Given the description of an element on the screen output the (x, y) to click on. 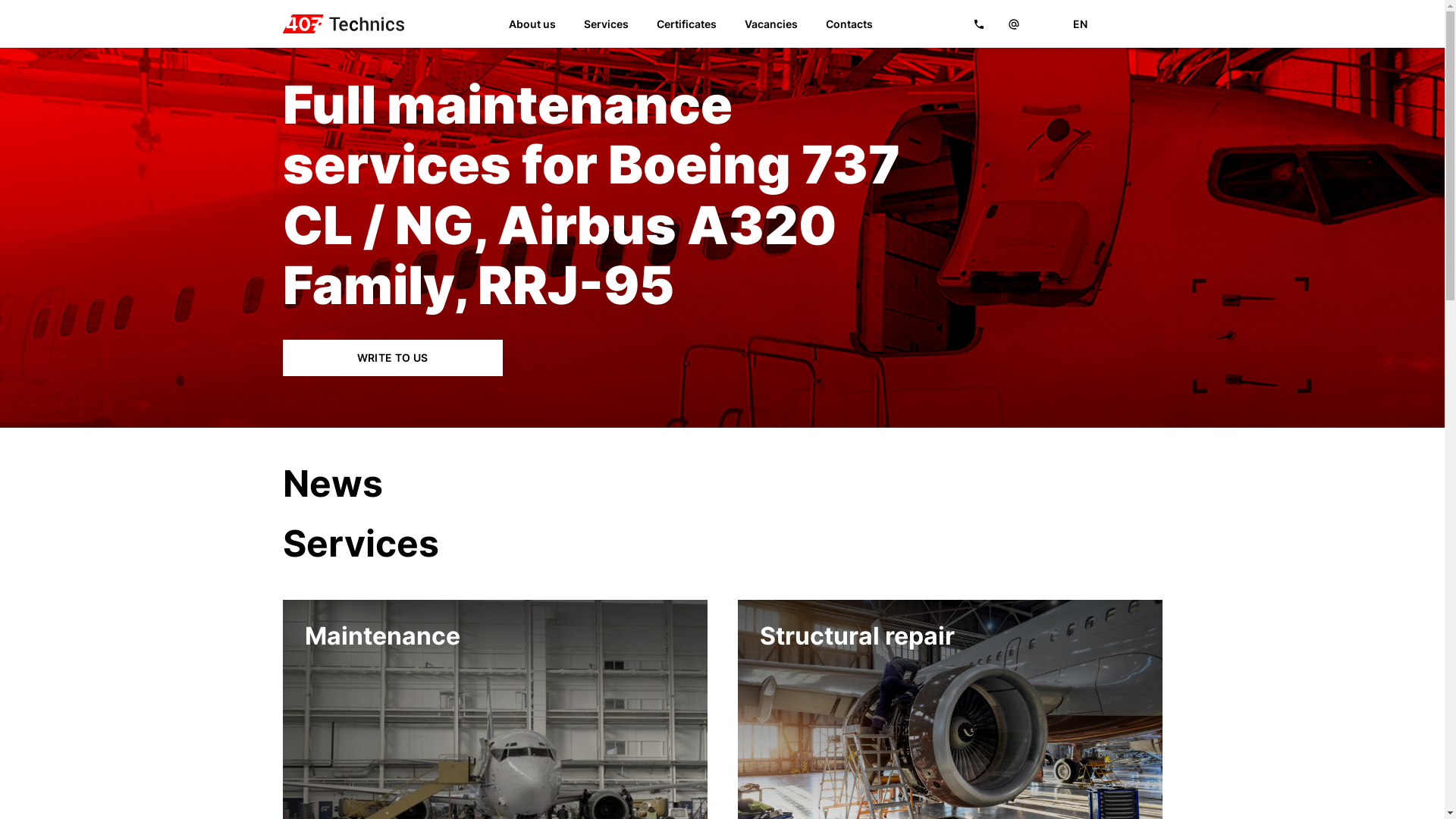
Contacts Element type: text (848, 23)
Services Element type: text (605, 23)
WRITE TO US Element type: text (392, 357)
About us Element type: text (531, 23)
Vacancies Element type: text (770, 23)
Certificates Element type: text (686, 23)
News Element type: text (332, 483)
